Given the description of an element on the screen output the (x, y) to click on. 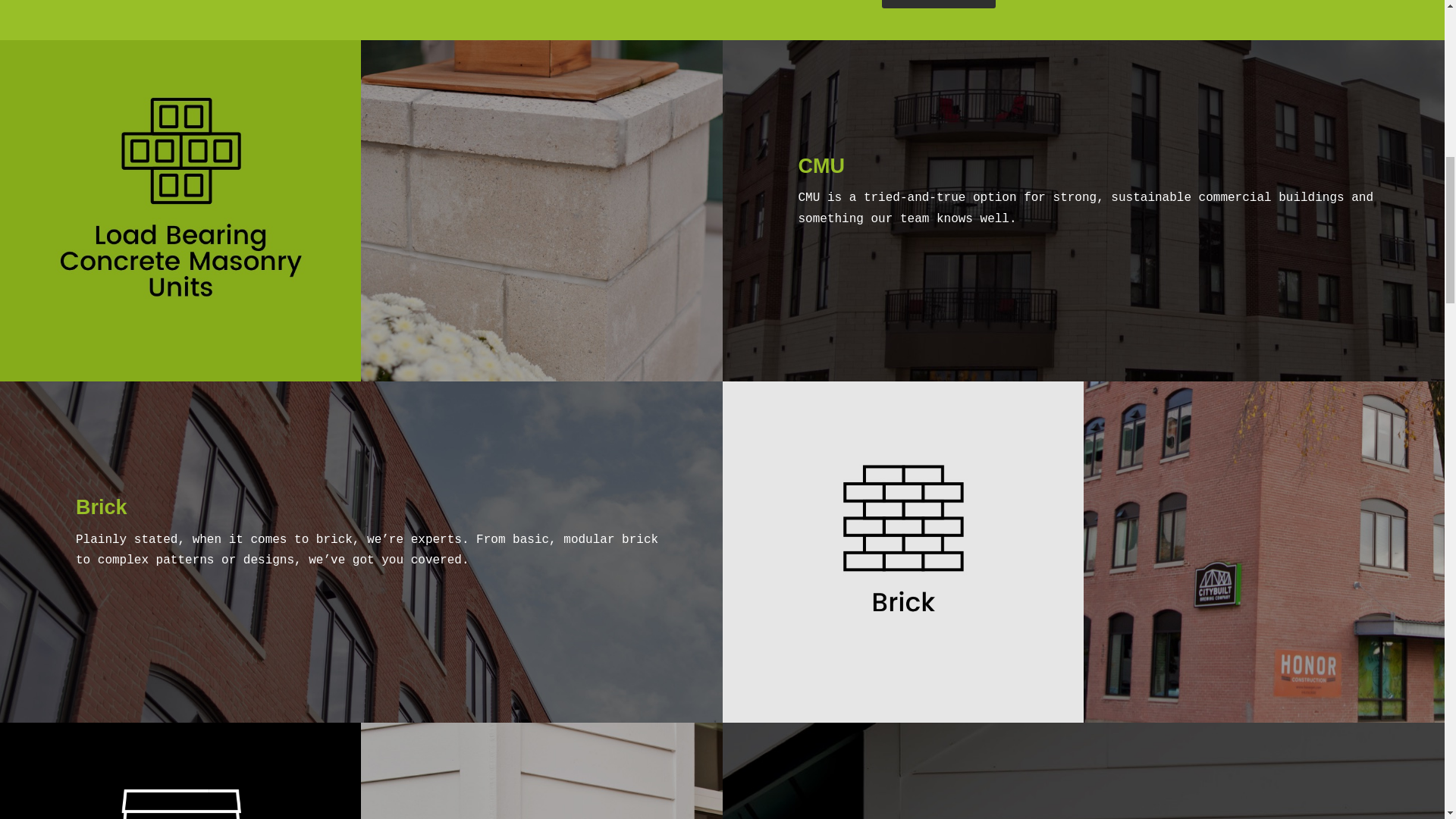
jhs-title-block (180, 775)
lbcmu-title-block (180, 199)
Learn More (938, 4)
